Given the description of an element on the screen output the (x, y) to click on. 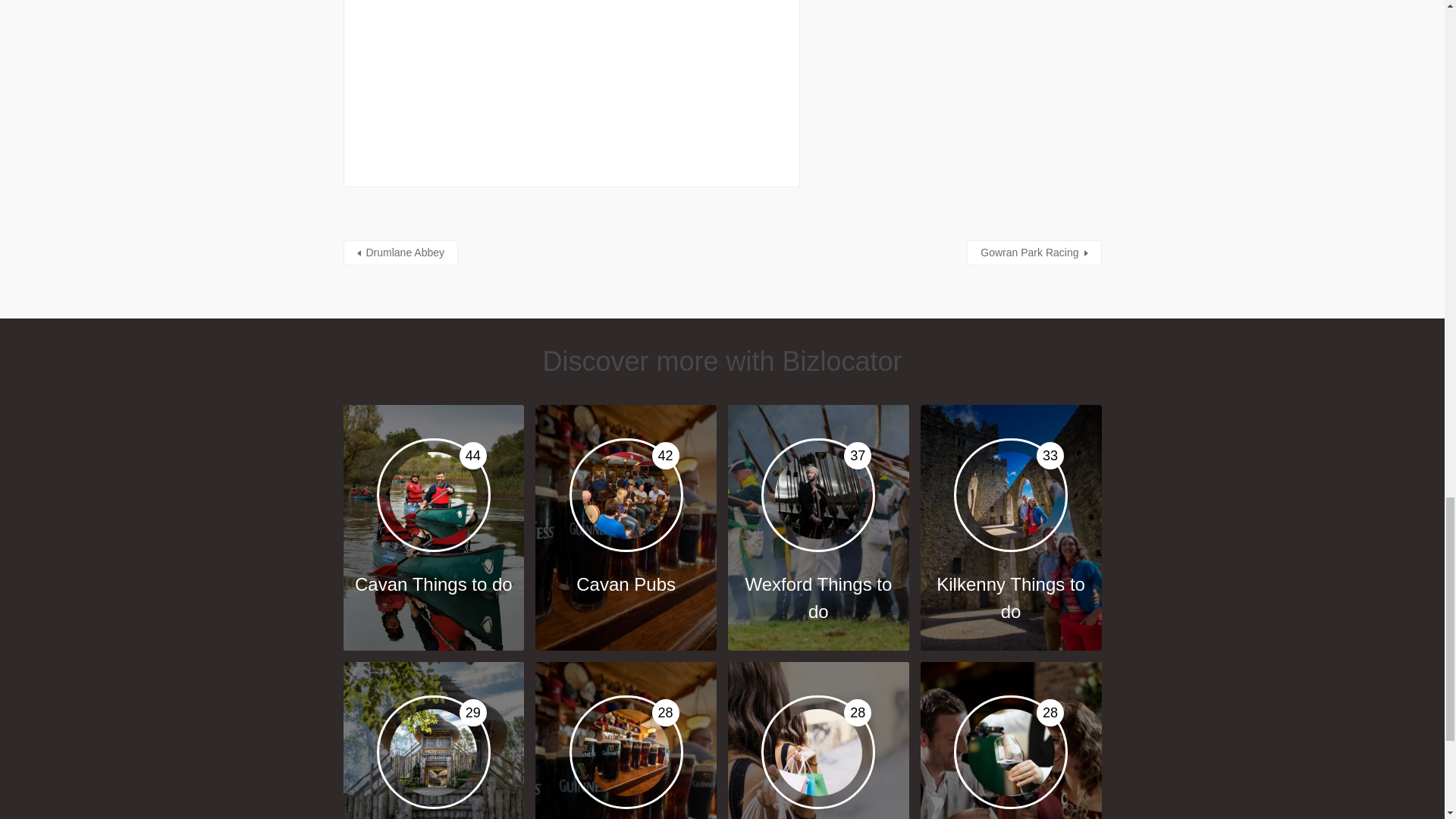
Drumlane Abbey (1011, 740)
Gowran Park Racing (433, 740)
